Given the description of an element on the screen output the (x, y) to click on. 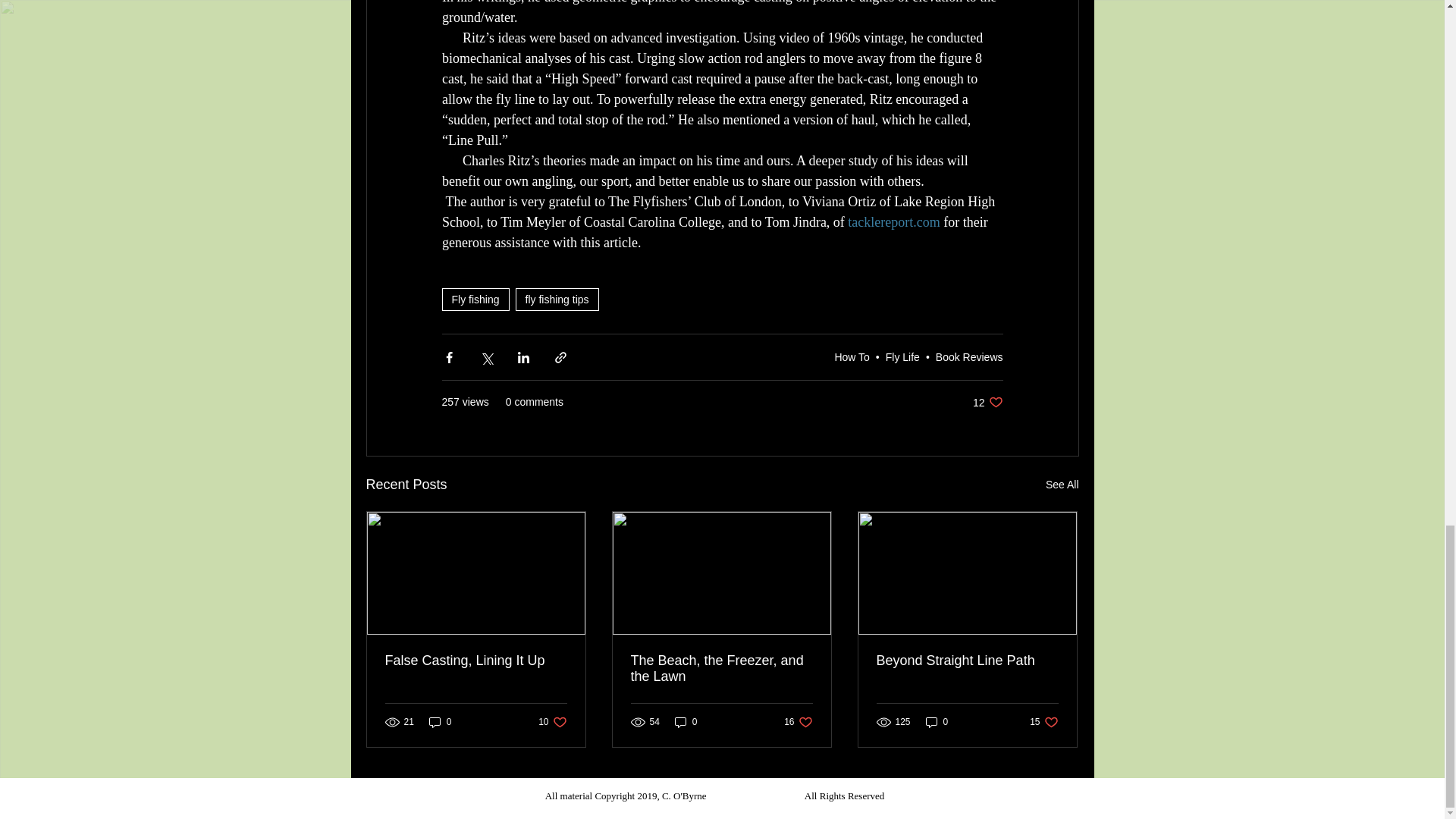
Book Reviews (969, 357)
0 (440, 721)
tacklereport.com (893, 222)
See All (987, 401)
How To (1061, 485)
fly fishing tips (851, 357)
False Casting, Lining It Up (556, 299)
Fly Life (476, 660)
Fly fishing (902, 357)
